Given the description of an element on the screen output the (x, y) to click on. 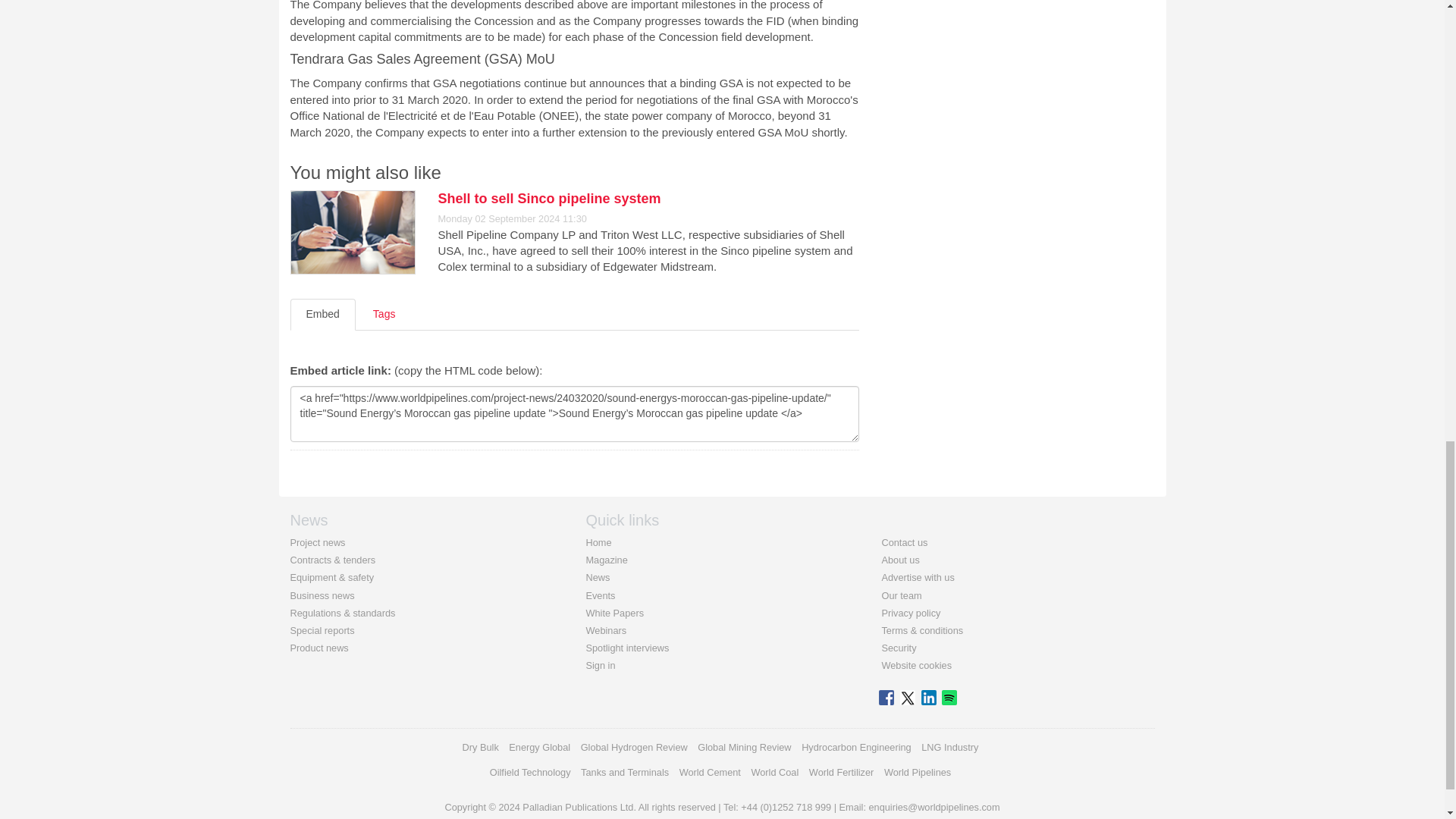
Project news (317, 542)
Embed (322, 314)
Shell to sell Sinco pipeline system (549, 198)
Tags (384, 314)
